Given the description of an element on the screen output the (x, y) to click on. 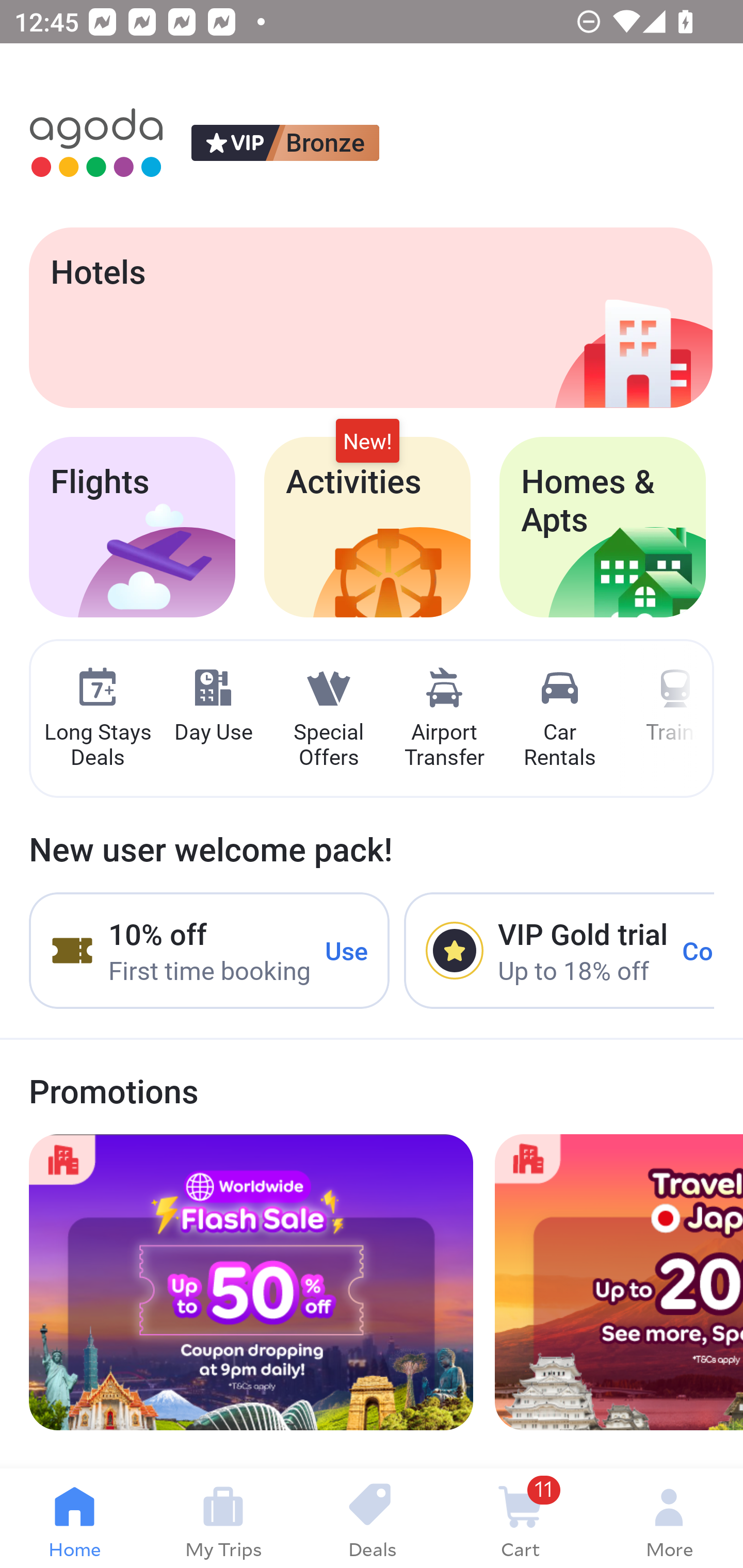
Hotels (370, 317)
New! (367, 441)
Flights (131, 527)
Activities (367, 527)
Homes & Apts (602, 527)
Day Use (213, 706)
Long Stays Deals (97, 718)
Special Offers (328, 718)
Airport Transfer (444, 718)
Car Rentals (559, 718)
Use (346, 950)
Home (74, 1518)
My Trips (222, 1518)
Deals (371, 1518)
11 Cart (519, 1518)
More (668, 1518)
